Given the description of an element on the screen output the (x, y) to click on. 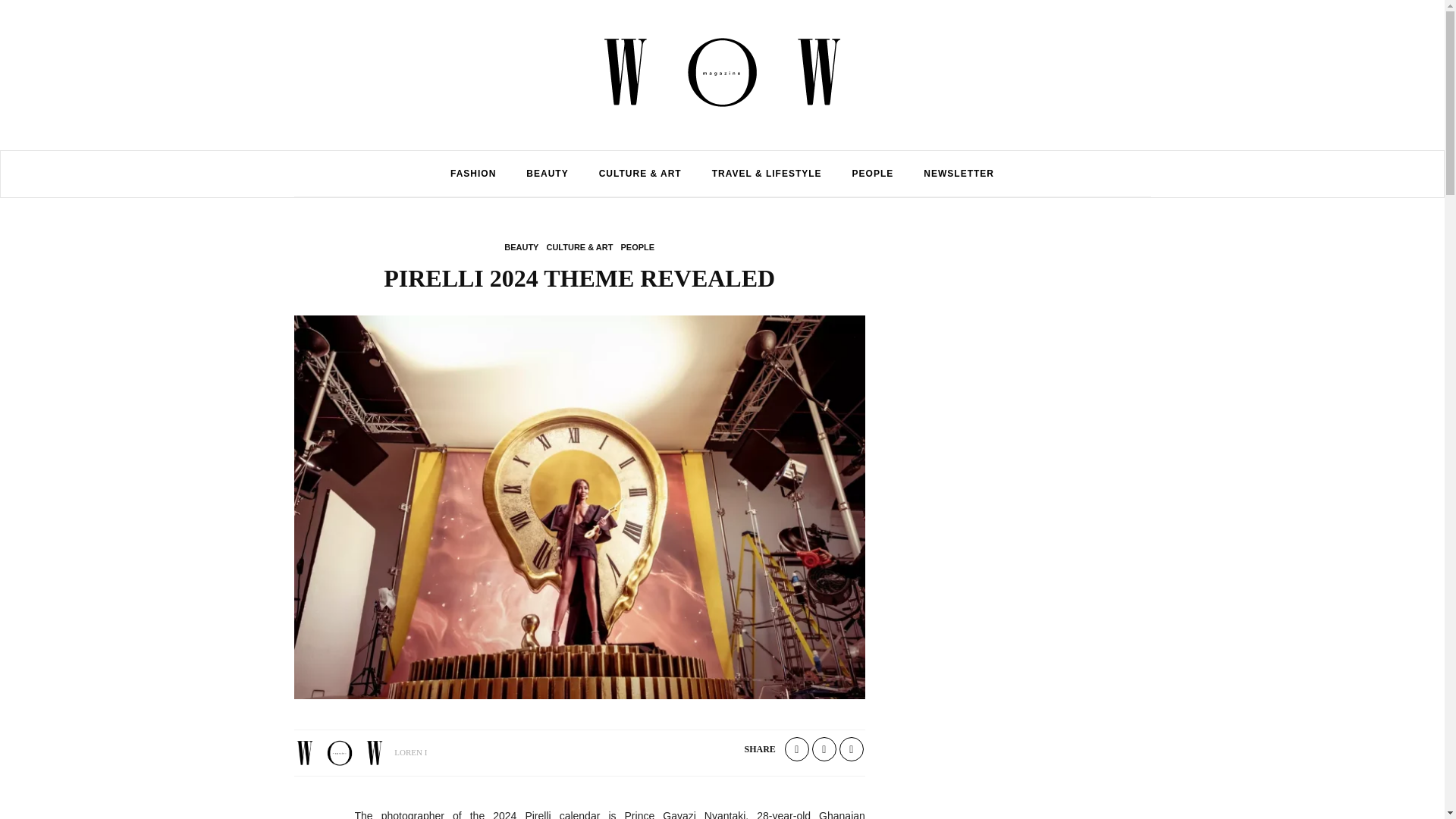
off canvas button (91, 170)
FASHION (473, 173)
PEOPLE (872, 173)
BEAUTY (547, 173)
